Given the description of an element on the screen output the (x, y) to click on. 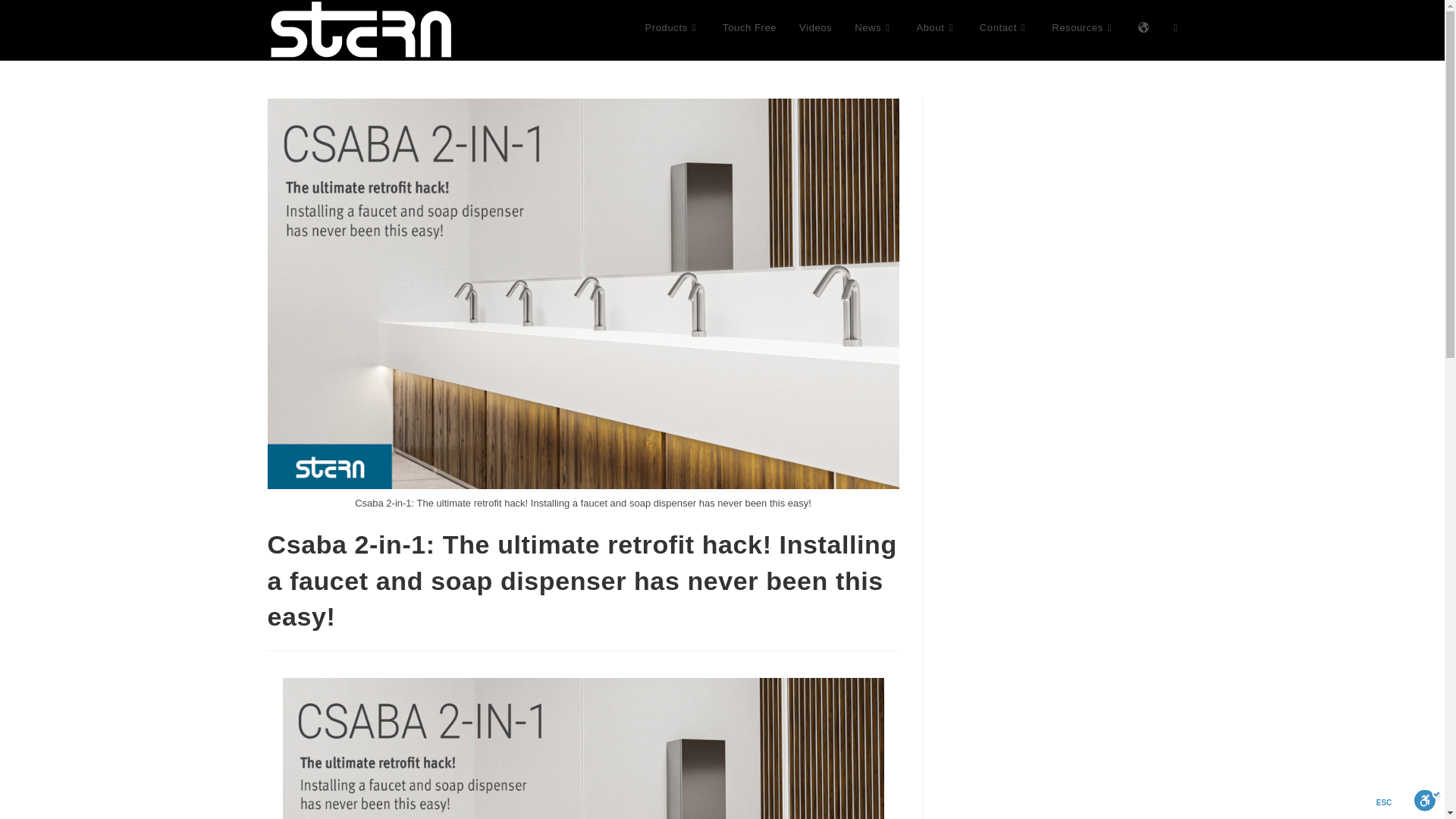
Products (672, 28)
